Given the description of an element on the screen output the (x, y) to click on. 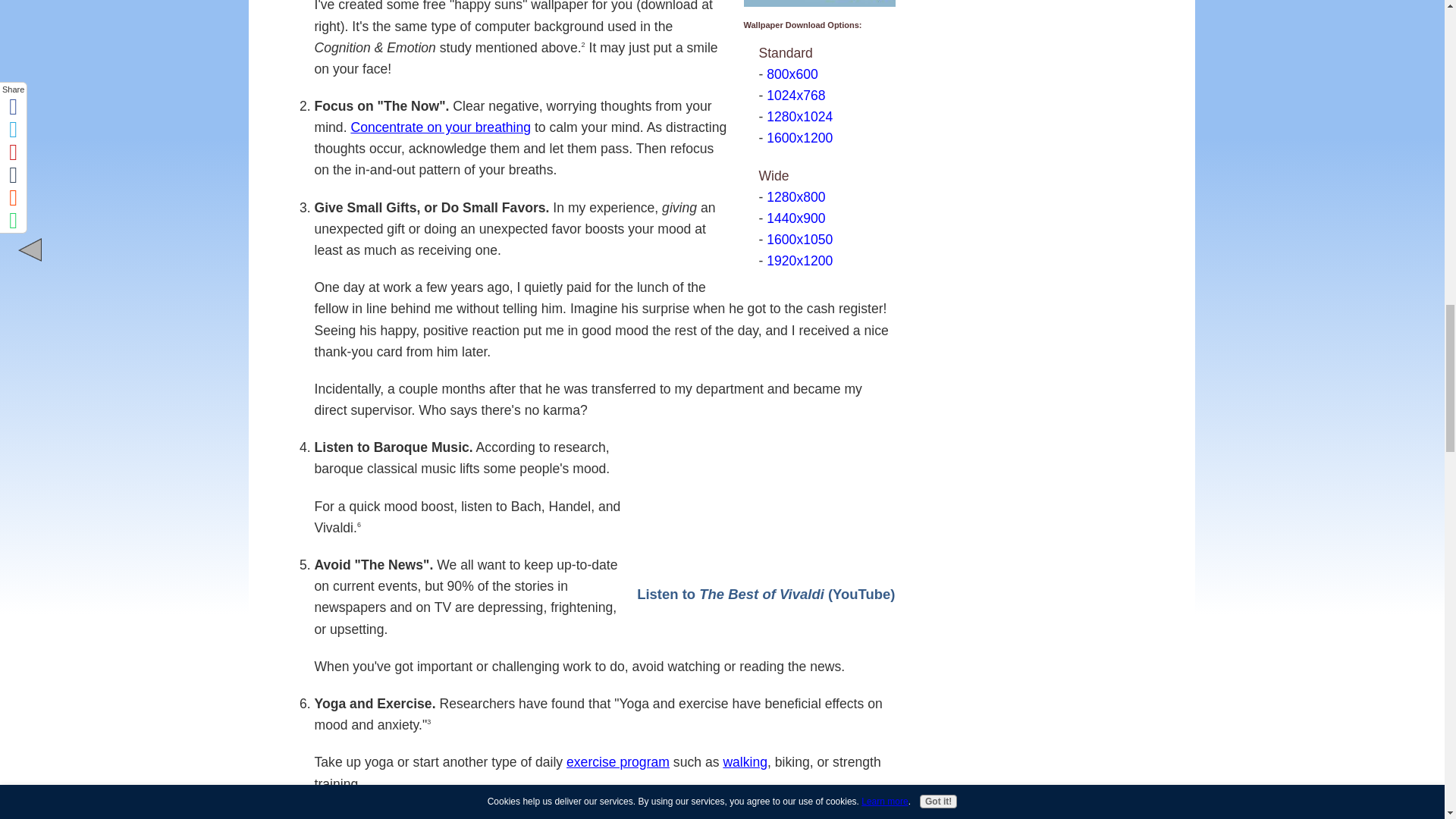
Throw away negative thoughts (408, 814)
Free Smiling Suns Wallpaper (818, 3)
